Given the description of an element on the screen output the (x, y) to click on. 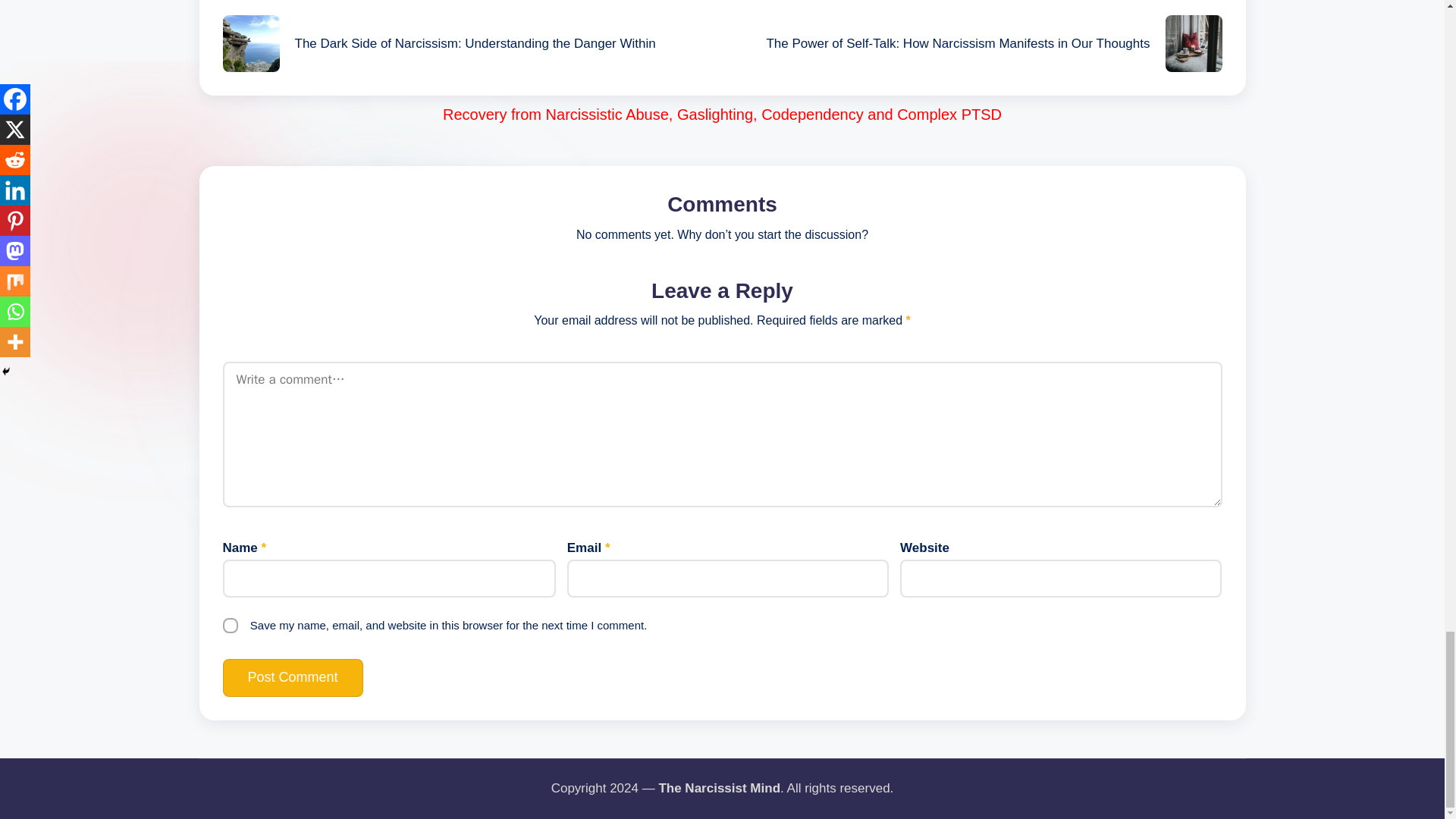
yes (230, 625)
The Dark Side of Narcissism: Understanding the Danger Within (472, 43)
Post Comment (292, 677)
